Given the description of an element on the screen output the (x, y) to click on. 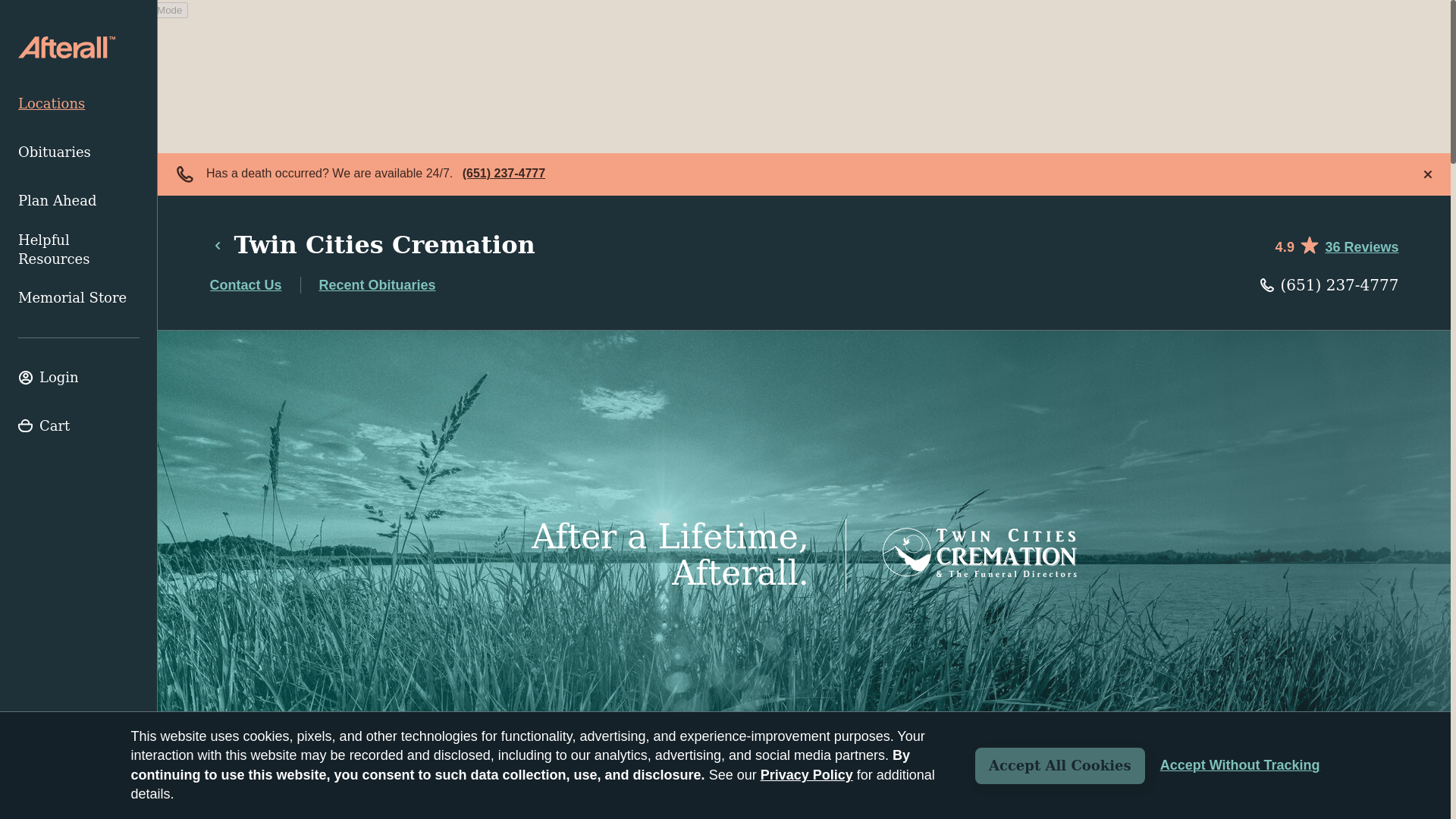
Accept Without Tracking (1240, 765)
Cart (78, 426)
Helpful Resources (78, 249)
Sign In (78, 377)
Plan Ahead (78, 200)
View your cart (78, 426)
Obituaries (78, 151)
Contact Us (245, 285)
Home page (66, 47)
Accept All Cookies (1059, 765)
Login (78, 377)
Locations (78, 103)
36 Reviews (1360, 246)
Privacy Policy (806, 774)
Location rating (1336, 244)
